Given the description of an element on the screen output the (x, y) to click on. 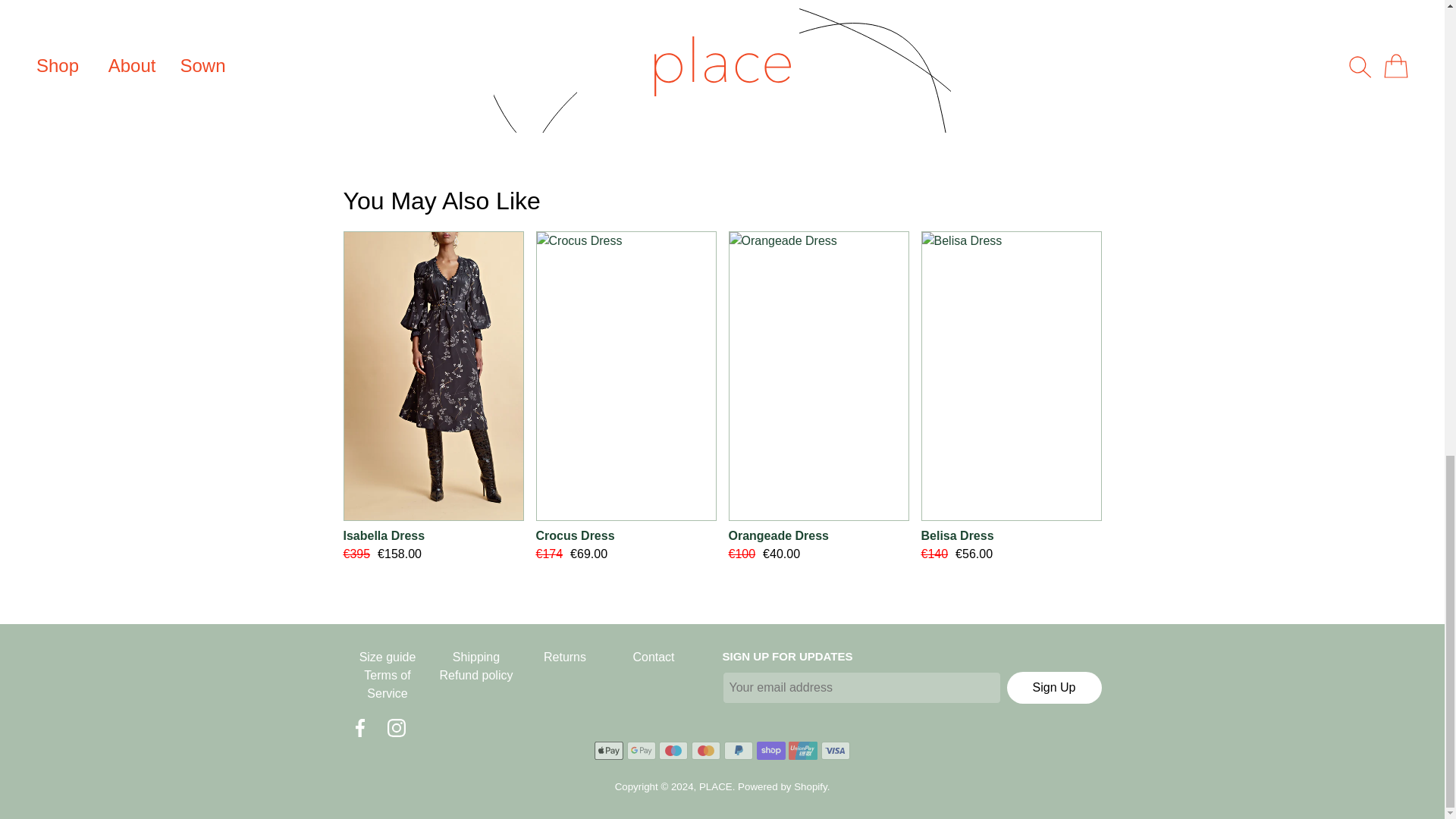
Orangeade Dress (818, 536)
Crocus Dress (625, 536)
PayPal (737, 751)
Size guide (386, 657)
Belisa Dress (1010, 536)
Mastercard (705, 751)
Maestro (673, 751)
Shop Pay (771, 751)
Isabella Dress (432, 536)
Visa (835, 751)
